Given the description of an element on the screen output the (x, y) to click on. 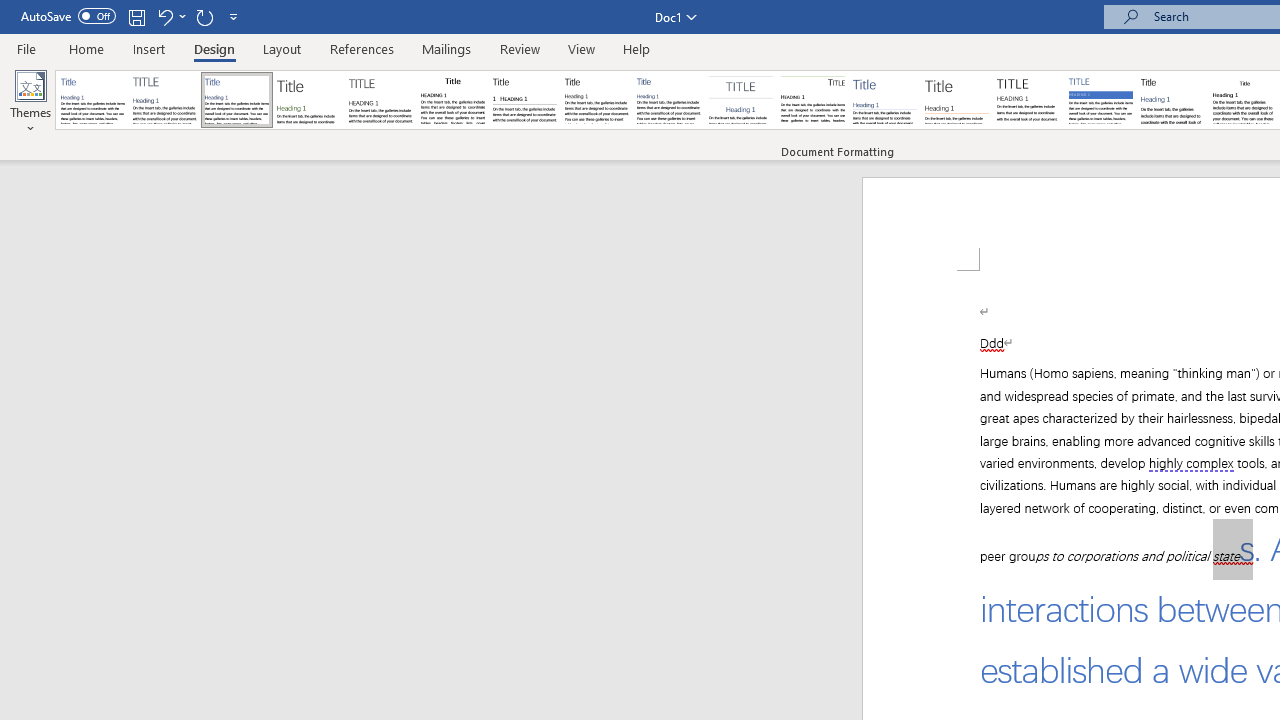
Lines (Stylish) (957, 100)
Lines (Simple) (884, 100)
Undo Apply Quick Style Set (164, 15)
Themes (30, 102)
Minimalist (1028, 100)
